Given the description of an element on the screen output the (x, y) to click on. 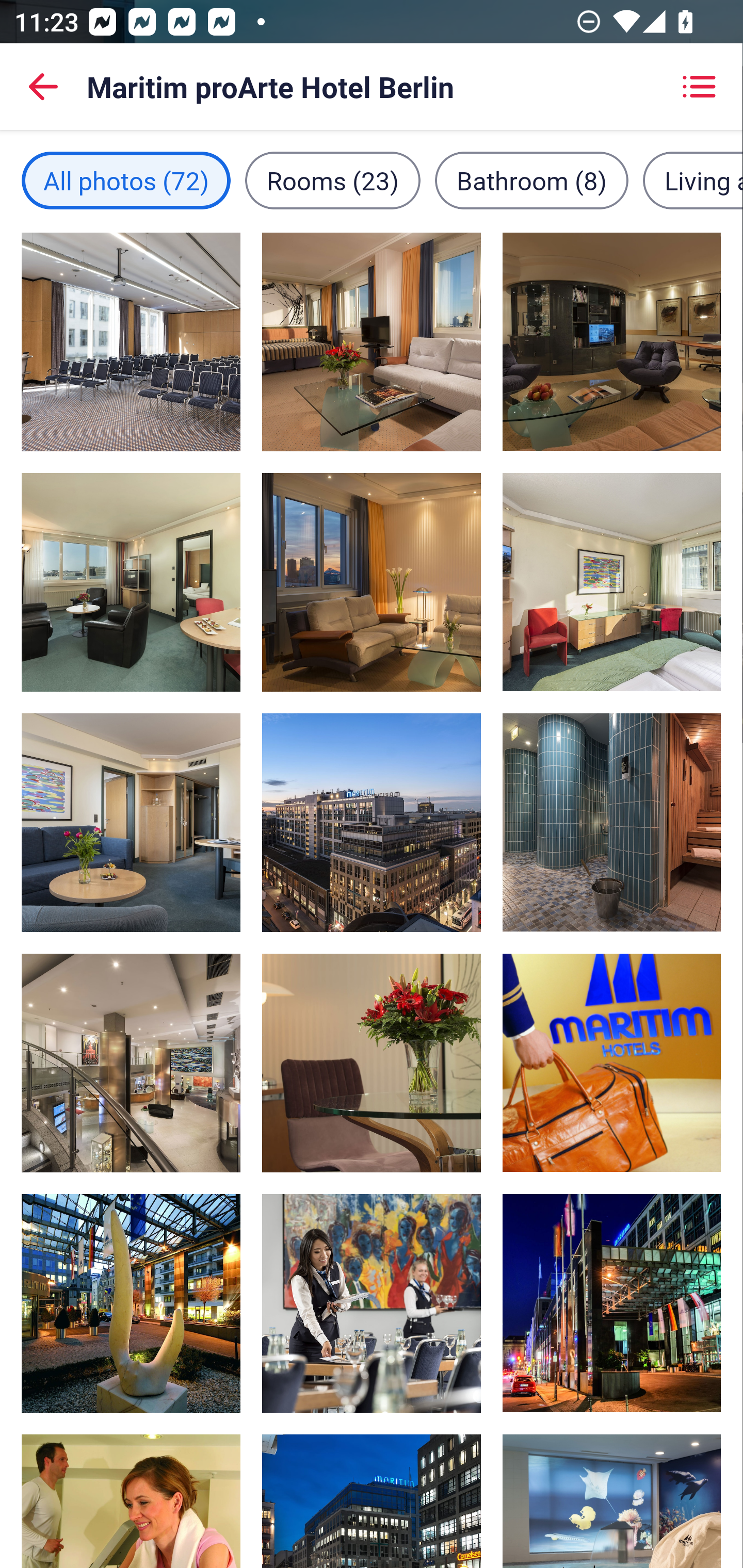
Back (43, 86)
Showing grid view (699, 86)
All photos filter, 72 images (125, 180)
Rooms filter, 23 images (332, 180)
Bathroom filter, 8 images (531, 180)
Meeting facility, image (130, 341)
Peter-Kuckei-Suite | View from room, image (371, 582)
View from room, image (130, 822)
Exterior, image (371, 822)
Lobby, image (130, 1062)
View from room, image (371, 1062)
Property entrance, image (130, 1303)
Meeting facility, image (371, 1303)
Terrace/patio, image (611, 1303)
Fitness facility, image (130, 1501)
Exterior, image (371, 1501)
Indoor pool, image (611, 1501)
